Given the description of an element on the screen output the (x, y) to click on. 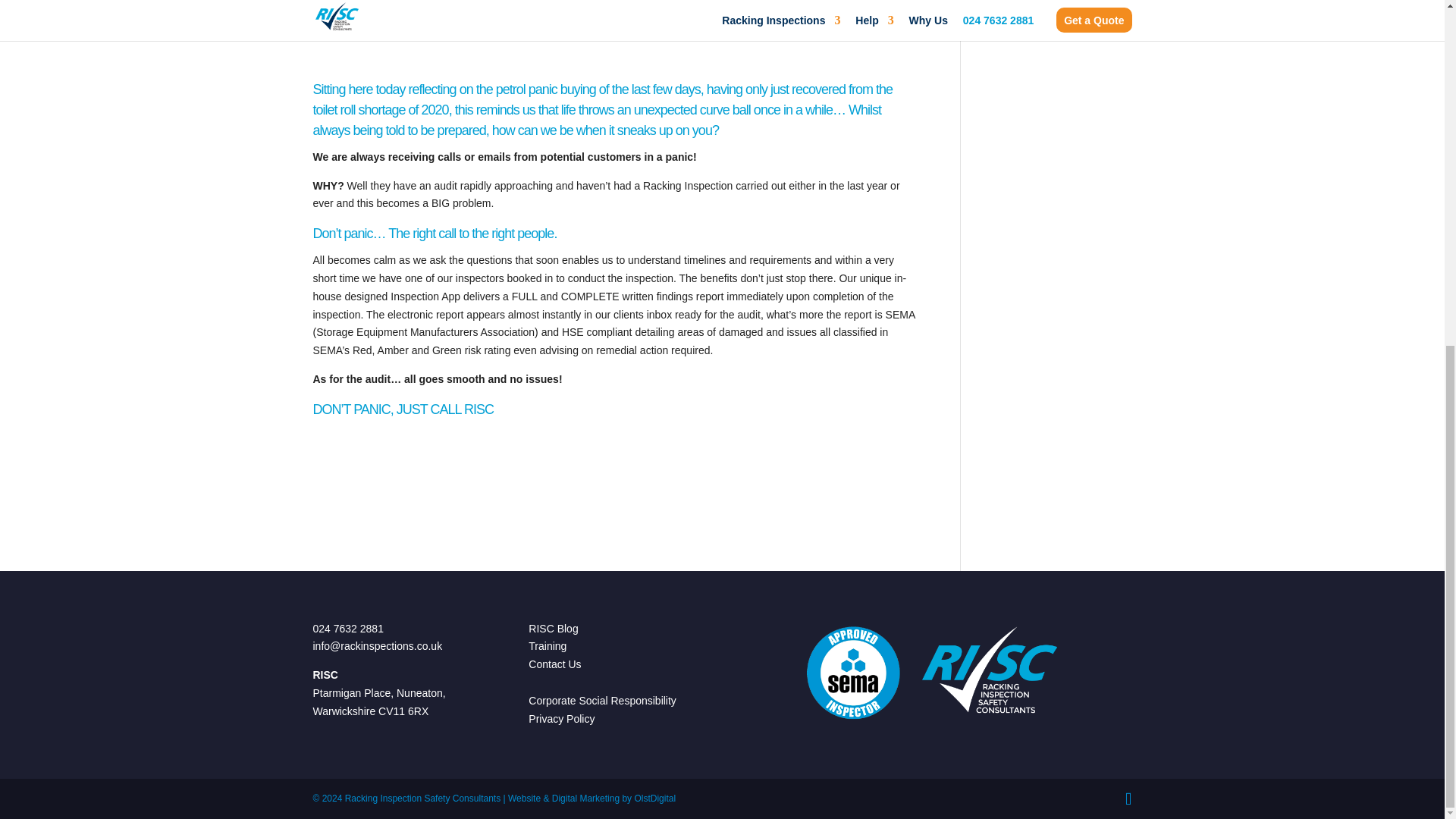
Training (547, 645)
Contact Us (554, 664)
Corporate Social Responsibility (602, 700)
RISC Blog (553, 628)
RISC SEMA Approved Inspectors (937, 673)
Privacy Policy (561, 718)
